Given the description of an element on the screen output the (x, y) to click on. 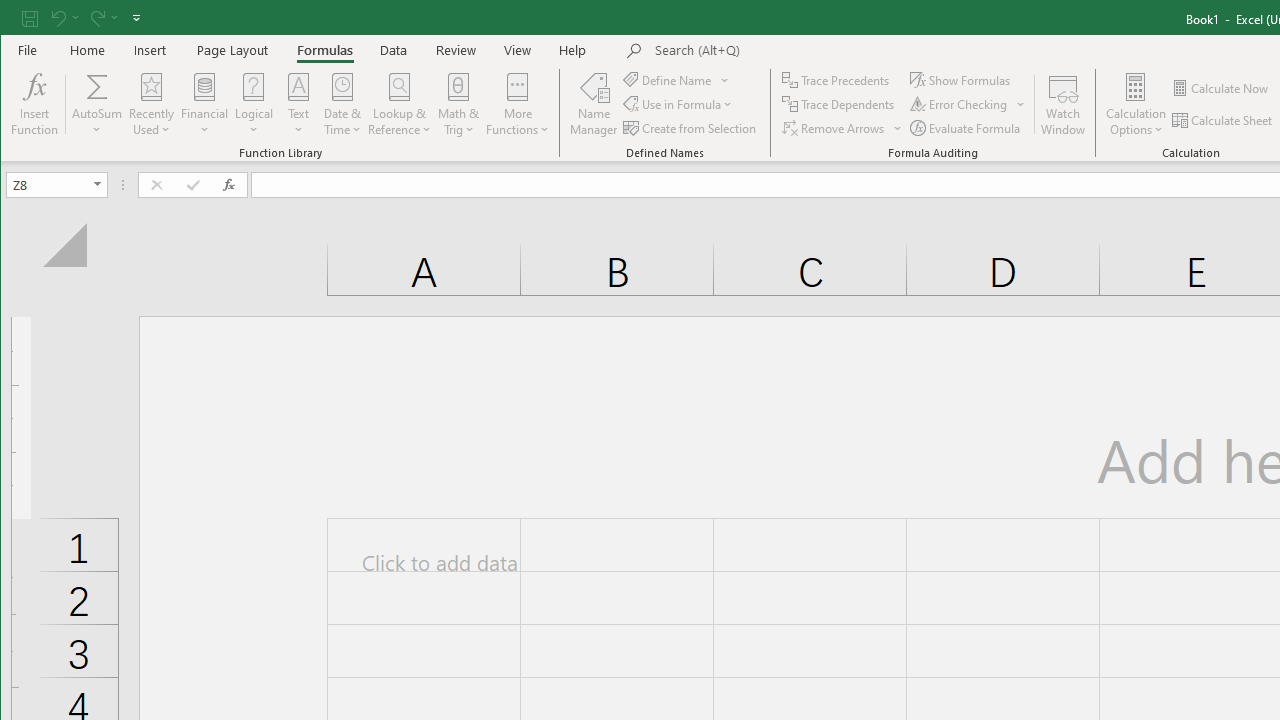
Date & Time (342, 104)
More Functions (517, 104)
Trace Dependents (840, 103)
Define Name (676, 80)
Evaluate Formula (966, 127)
Watch Window (1063, 104)
Calculation Options (1135, 104)
Use in Formula (678, 103)
